Given the description of an element on the screen output the (x, y) to click on. 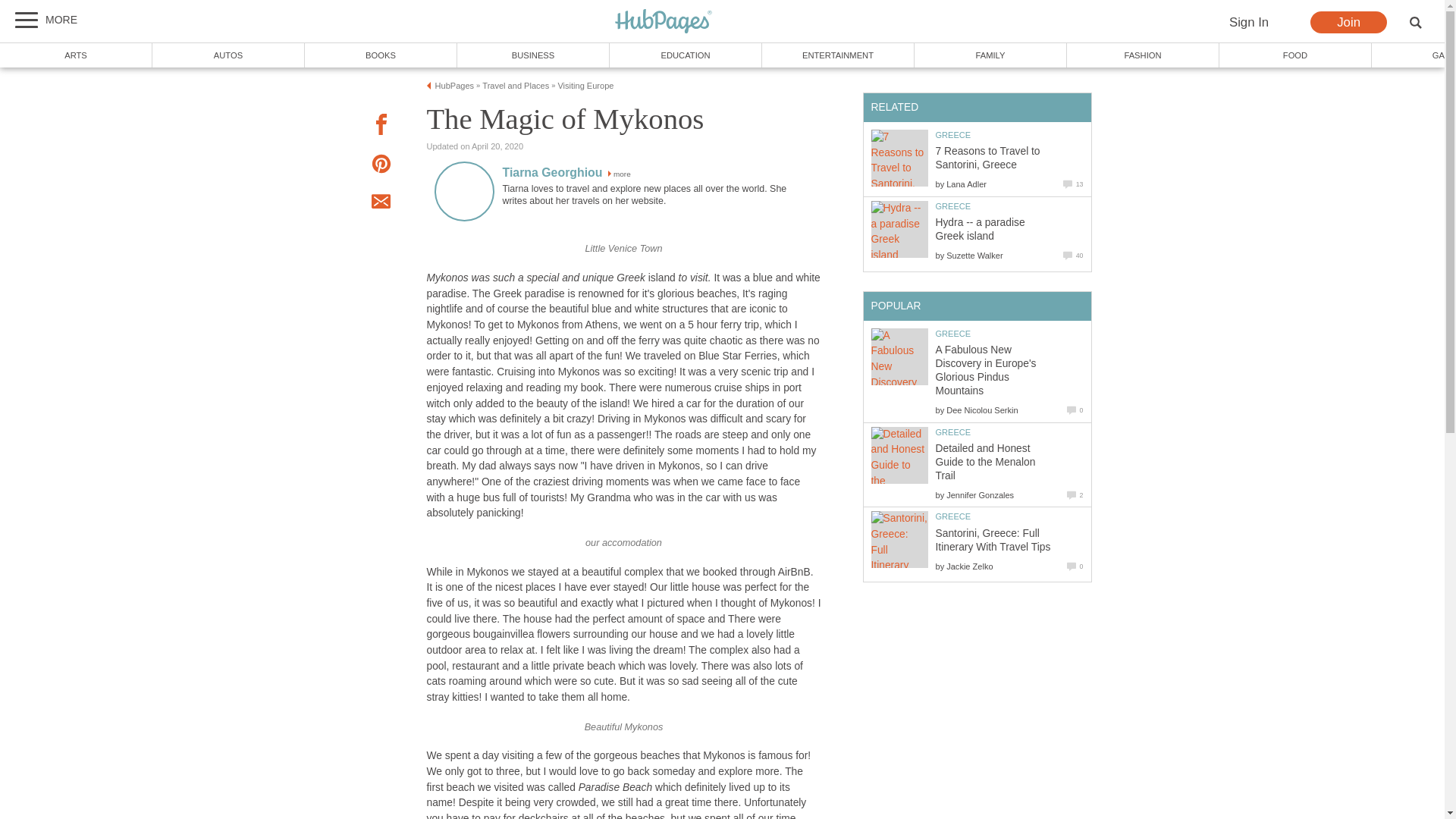
Email (380, 203)
ENTERTAINMENT (837, 55)
BUSINESS (533, 55)
Sign In (1248, 22)
7 Reasons to Travel to Santorini, Greece (988, 157)
GREECE (953, 205)
Travel and Places (514, 85)
HubPages (663, 22)
GREECE (953, 134)
BOOKS (380, 55)
